Given the description of an element on the screen output the (x, y) to click on. 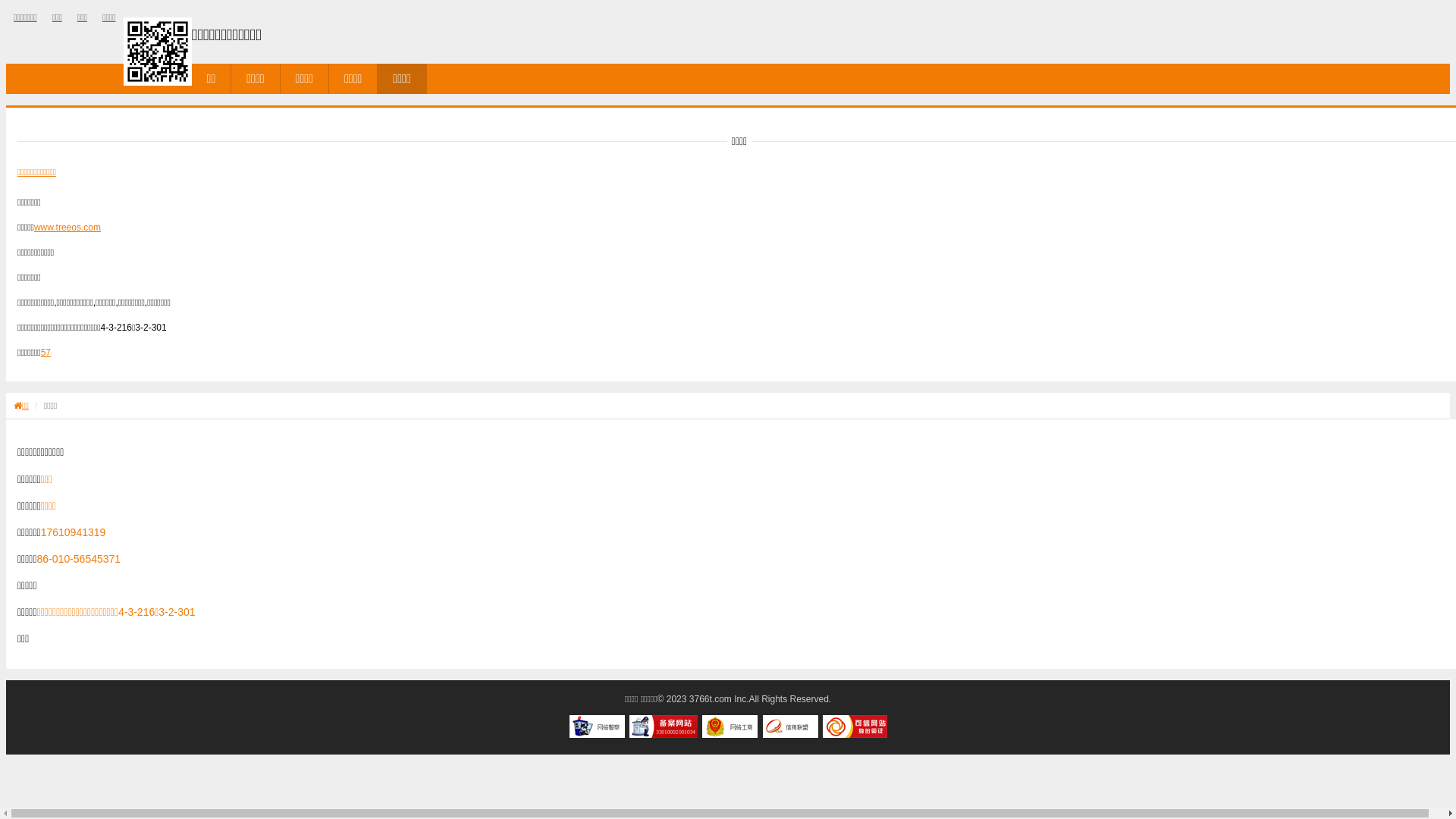
www.treeos.com Element type: text (67, 227)
57 Element type: text (45, 352)
